Given the description of an element on the screen output the (x, y) to click on. 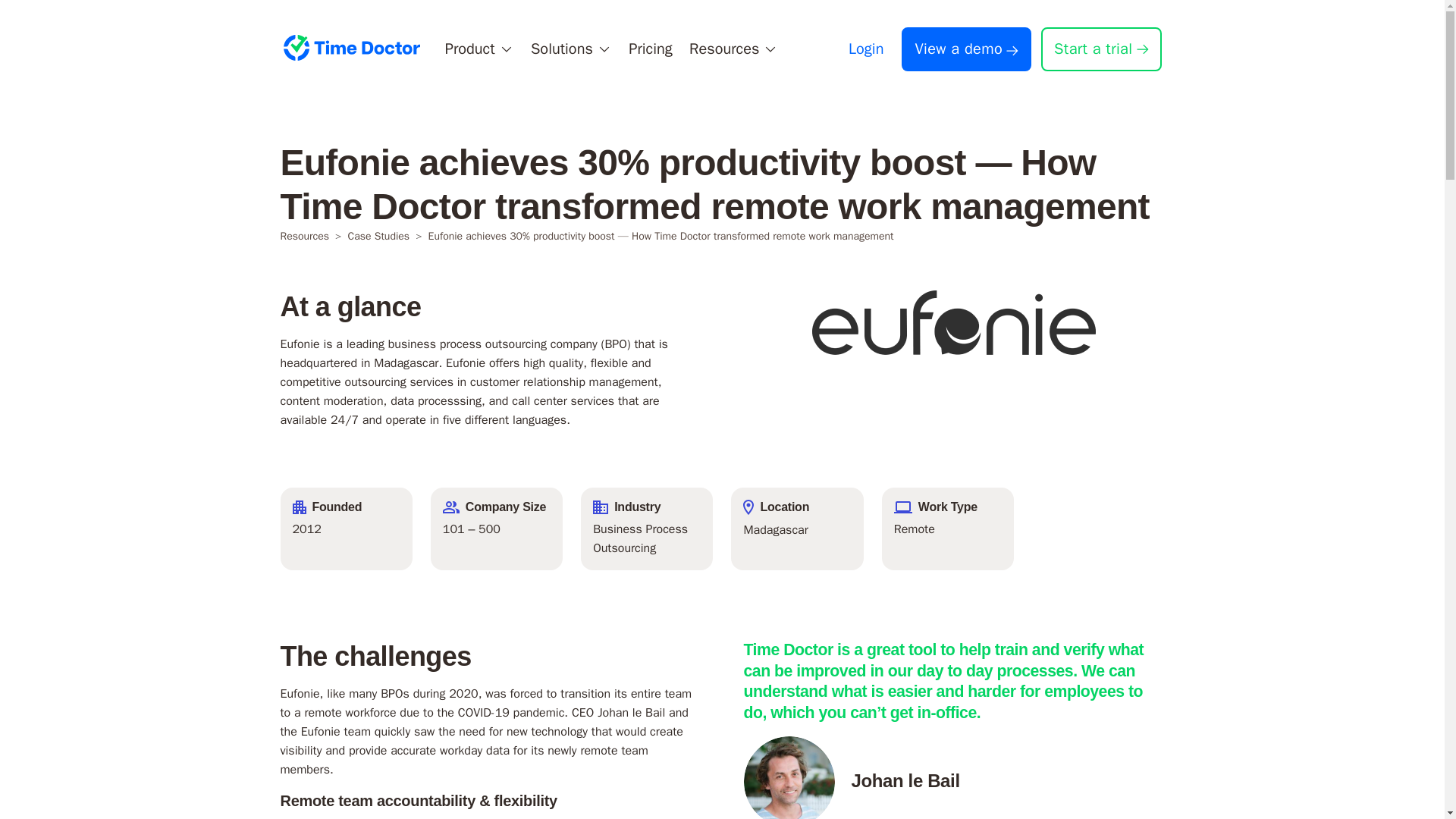
Resources (305, 236)
Login (866, 48)
Resources (734, 48)
Solutions (571, 48)
Product (479, 48)
Solutions (571, 48)
Pricing (650, 48)
Start a trial (1100, 49)
Product (479, 48)
Case Studies (378, 236)
